Given the description of an element on the screen output the (x, y) to click on. 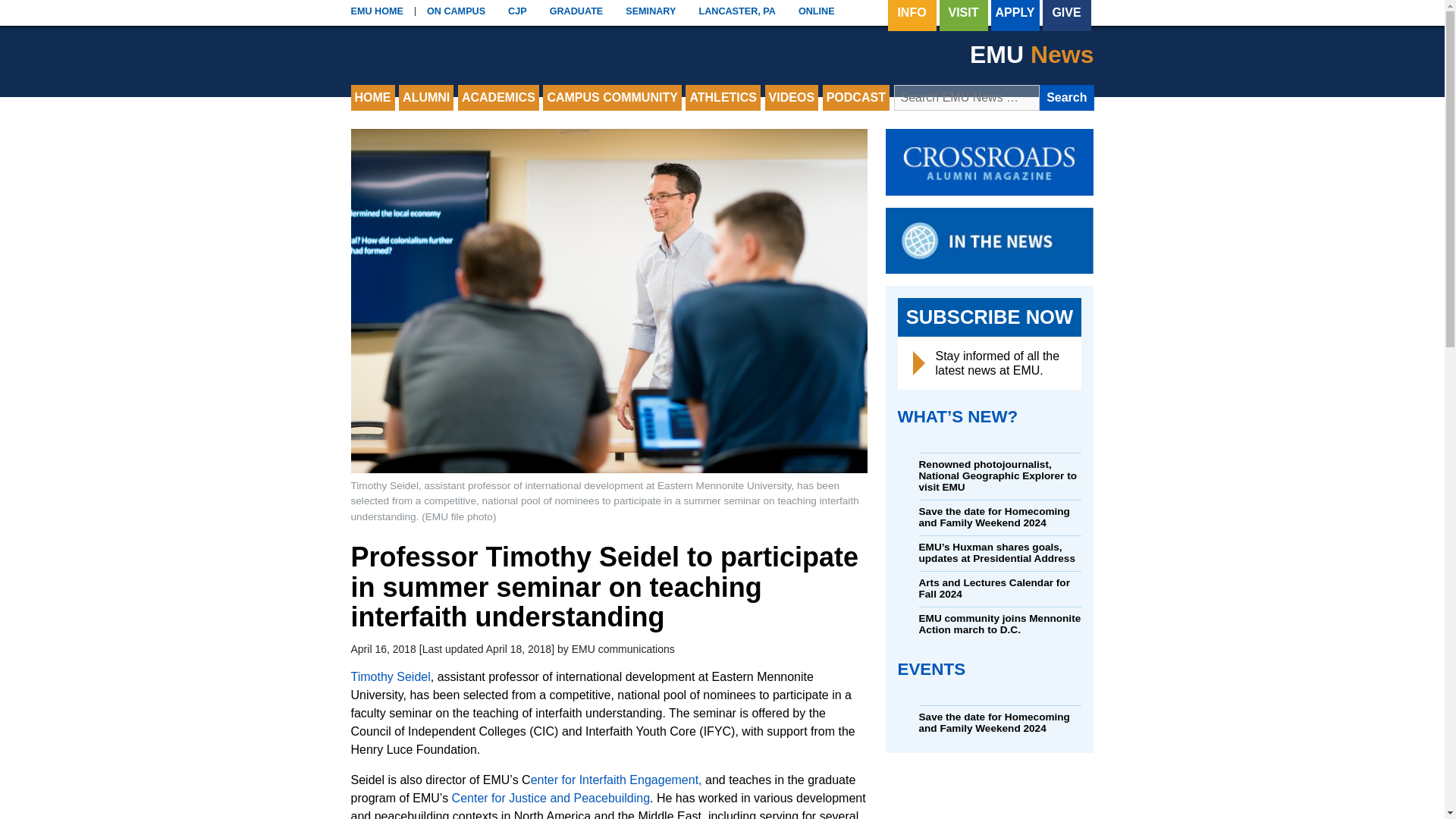
EMU HOME (376, 10)
SEMINARY (650, 10)
VISIT (963, 15)
GRADUATE (576, 10)
ONLINE (816, 10)
myEMU (455, 10)
Search (1066, 97)
Give (1066, 15)
Search for: (966, 97)
Search (1066, 97)
